Given the description of an element on the screen output the (x, y) to click on. 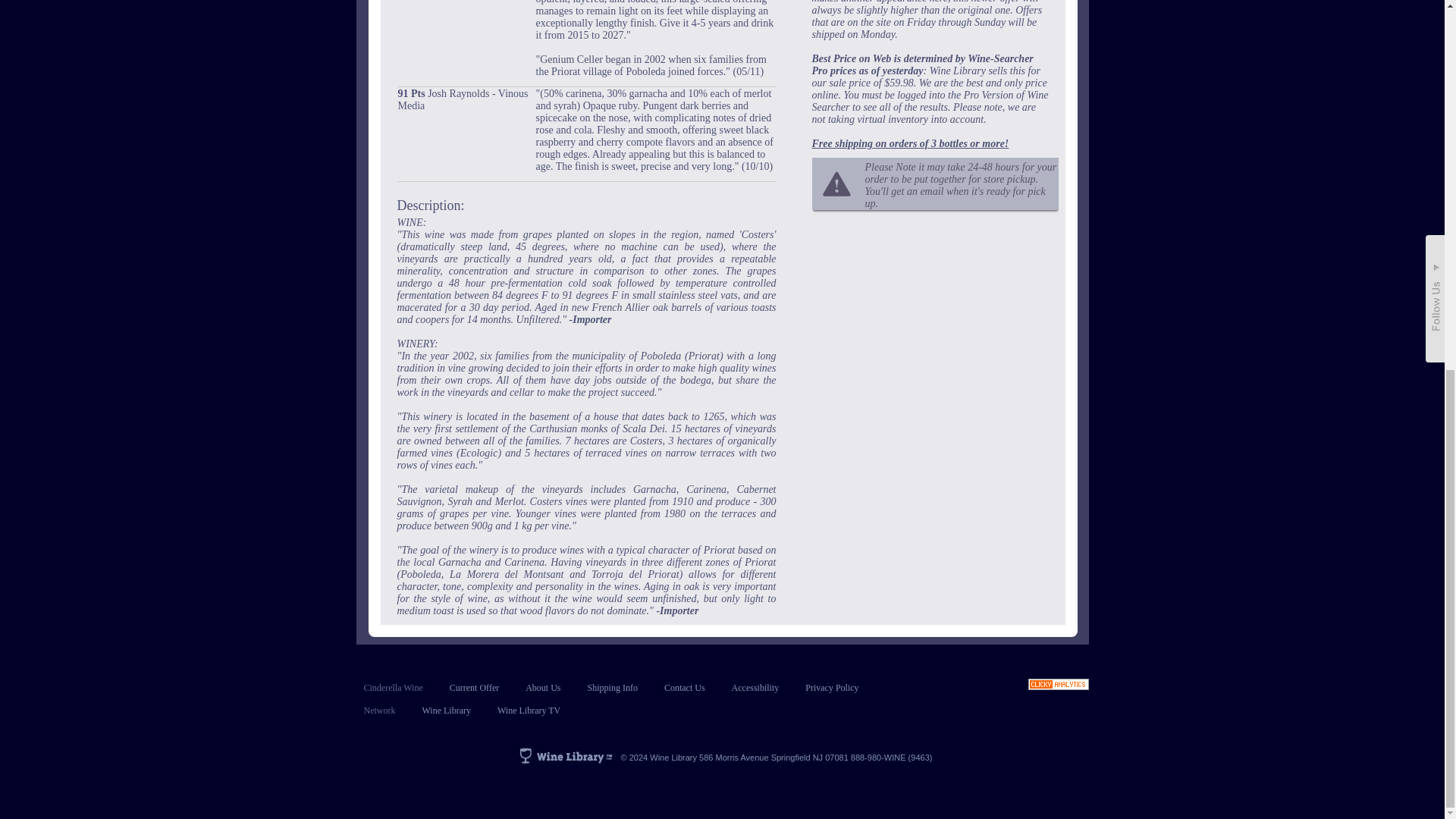
About Us (542, 687)
Privacy Policy (832, 687)
About Us (542, 687)
Wine Librarys daily video blog. (528, 710)
Privacy Policy (832, 687)
Shipping Info (612, 687)
Contact Us (683, 687)
Wine Library Store (446, 710)
Current Offer (474, 687)
Wine Library (446, 710)
Contact Us (683, 687)
Wine Library TV (528, 710)
Accessibility (755, 687)
Web Statistics (1058, 685)
Accessibility (755, 687)
